Given the description of an element on the screen output the (x, y) to click on. 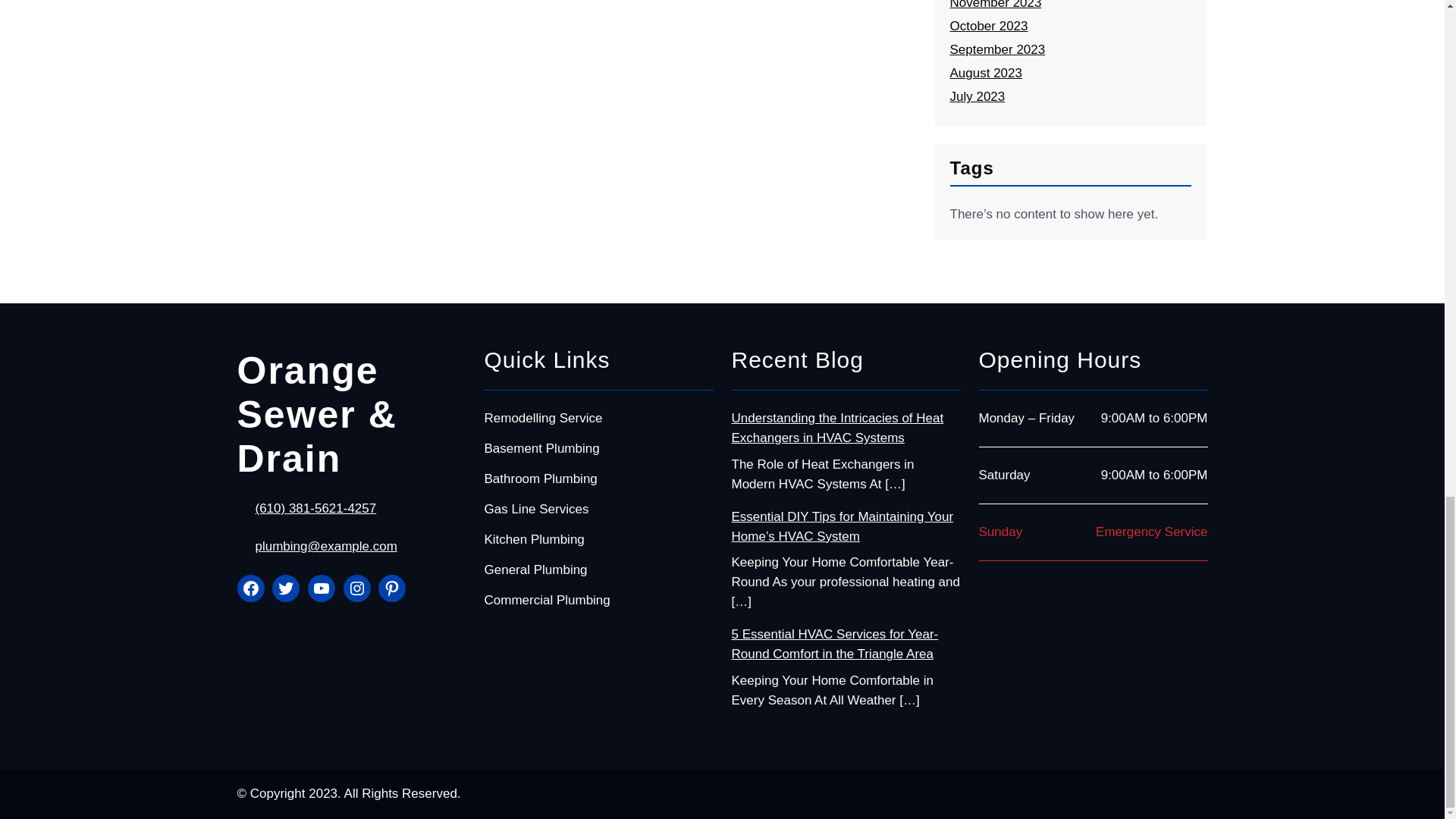
September 2023 (997, 49)
Facebook (249, 587)
Instagram (357, 587)
October 2023 (988, 25)
August 2023 (985, 73)
November 2023 (995, 4)
Twitter (285, 587)
YouTube (320, 587)
July 2023 (976, 96)
